Given the description of an element on the screen output the (x, y) to click on. 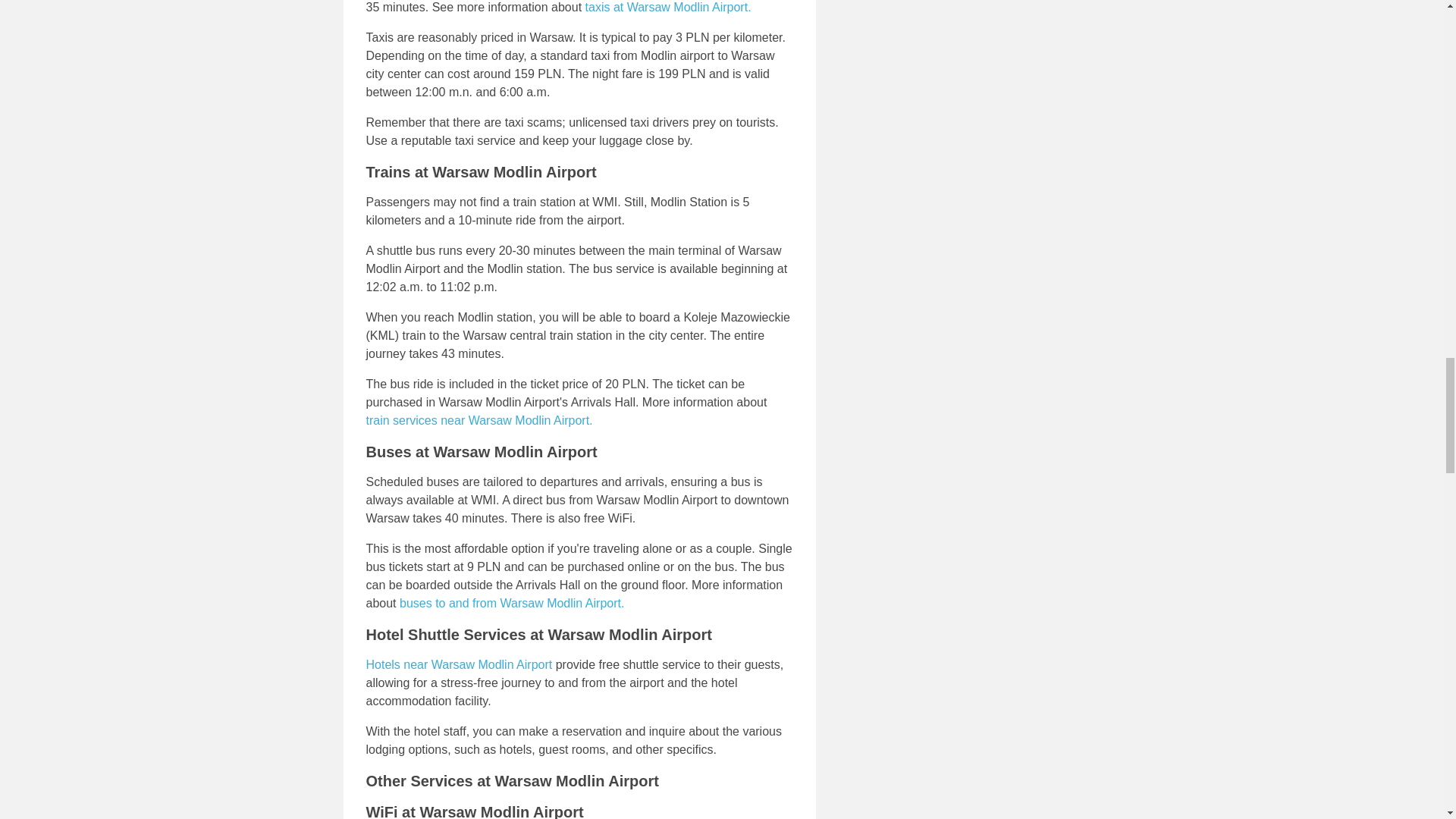
Hotels (458, 664)
Train (478, 420)
Taxi (668, 6)
Bus (511, 603)
